Given the description of an element on the screen output the (x, y) to click on. 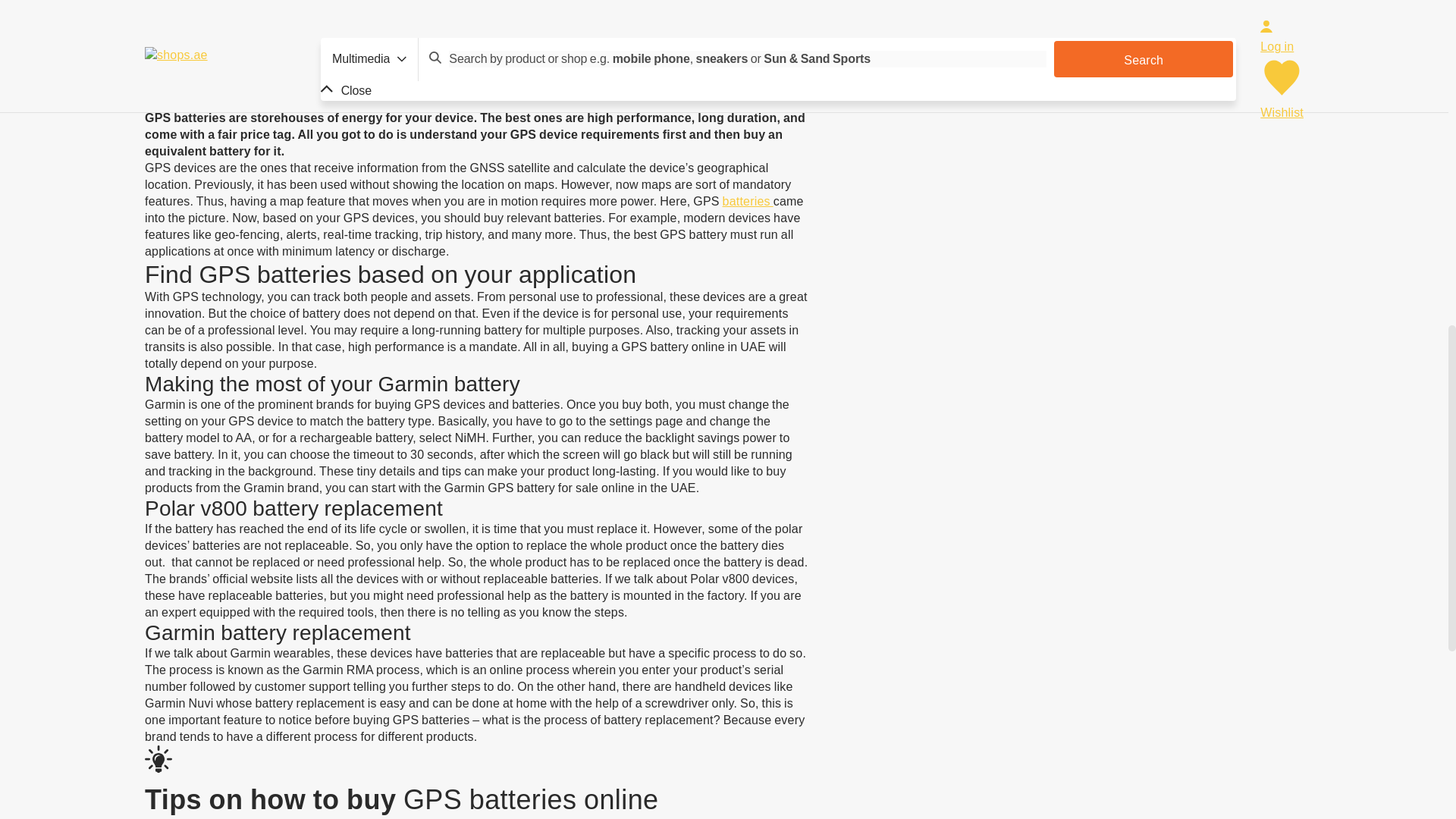
batteries (747, 201)
multimedia (1247, 6)
